Given the description of an element on the screen output the (x, y) to click on. 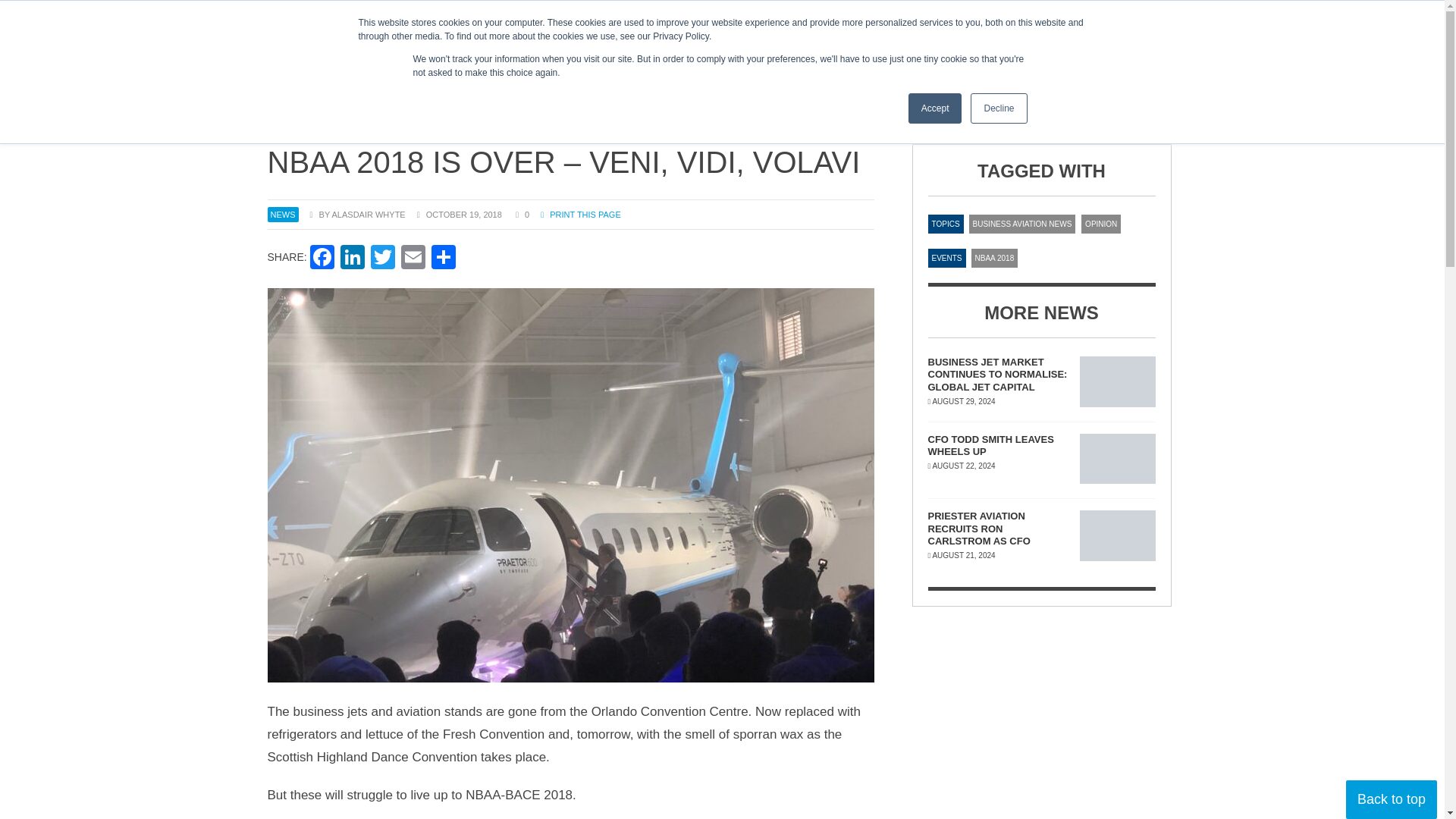
PUBLICATIONS (915, 70)
Accept (935, 108)
CONTACT (335, 15)
Twitter (382, 258)
Decline (998, 108)
Facebook (322, 258)
EVENTS (1005, 70)
Email (412, 258)
ADVERTISE AND SPONSOR (598, 14)
